Given the description of an element on the screen output the (x, y) to click on. 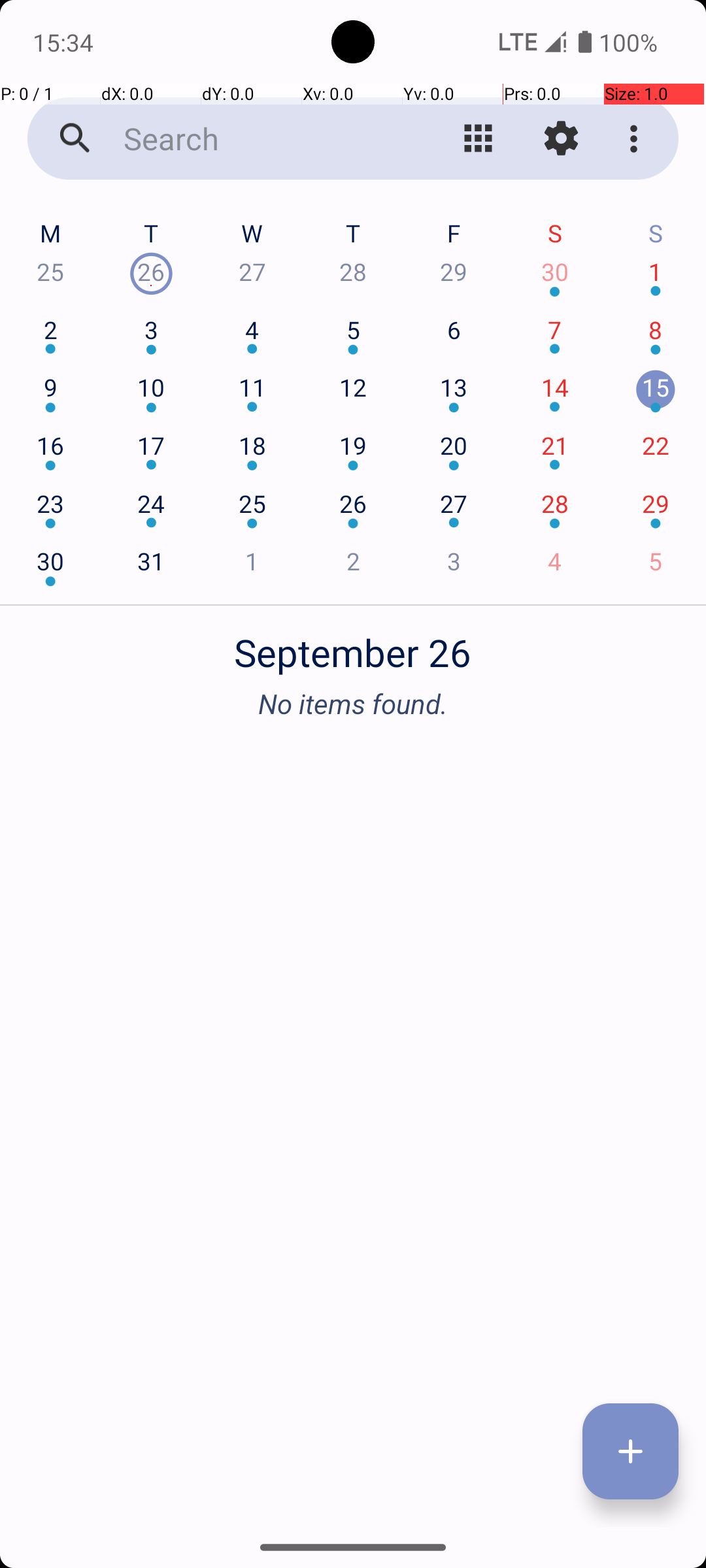
September 26 Element type: android.widget.TextView (352, 644)
